Given the description of an element on the screen output the (x, y) to click on. 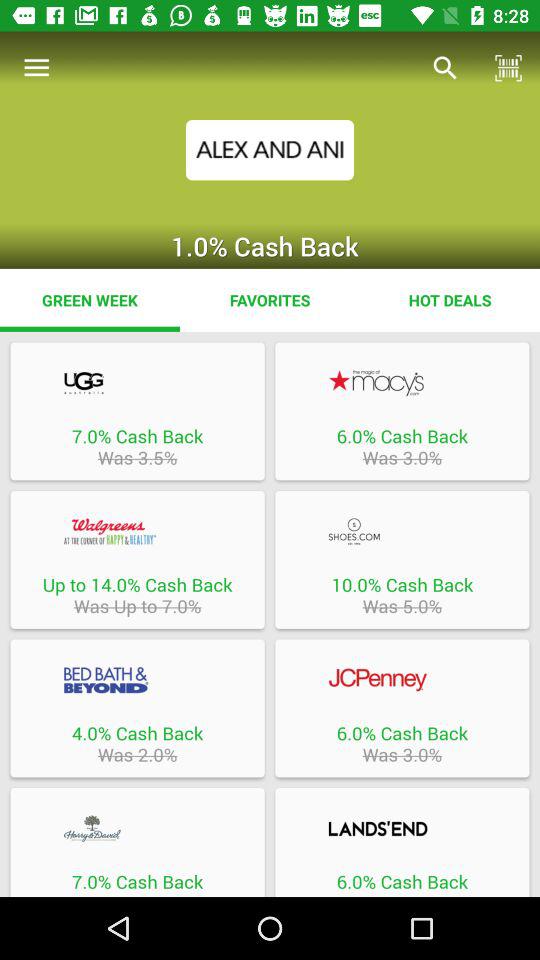
go to macy 's website (402, 382)
